Given the description of an element on the screen output the (x, y) to click on. 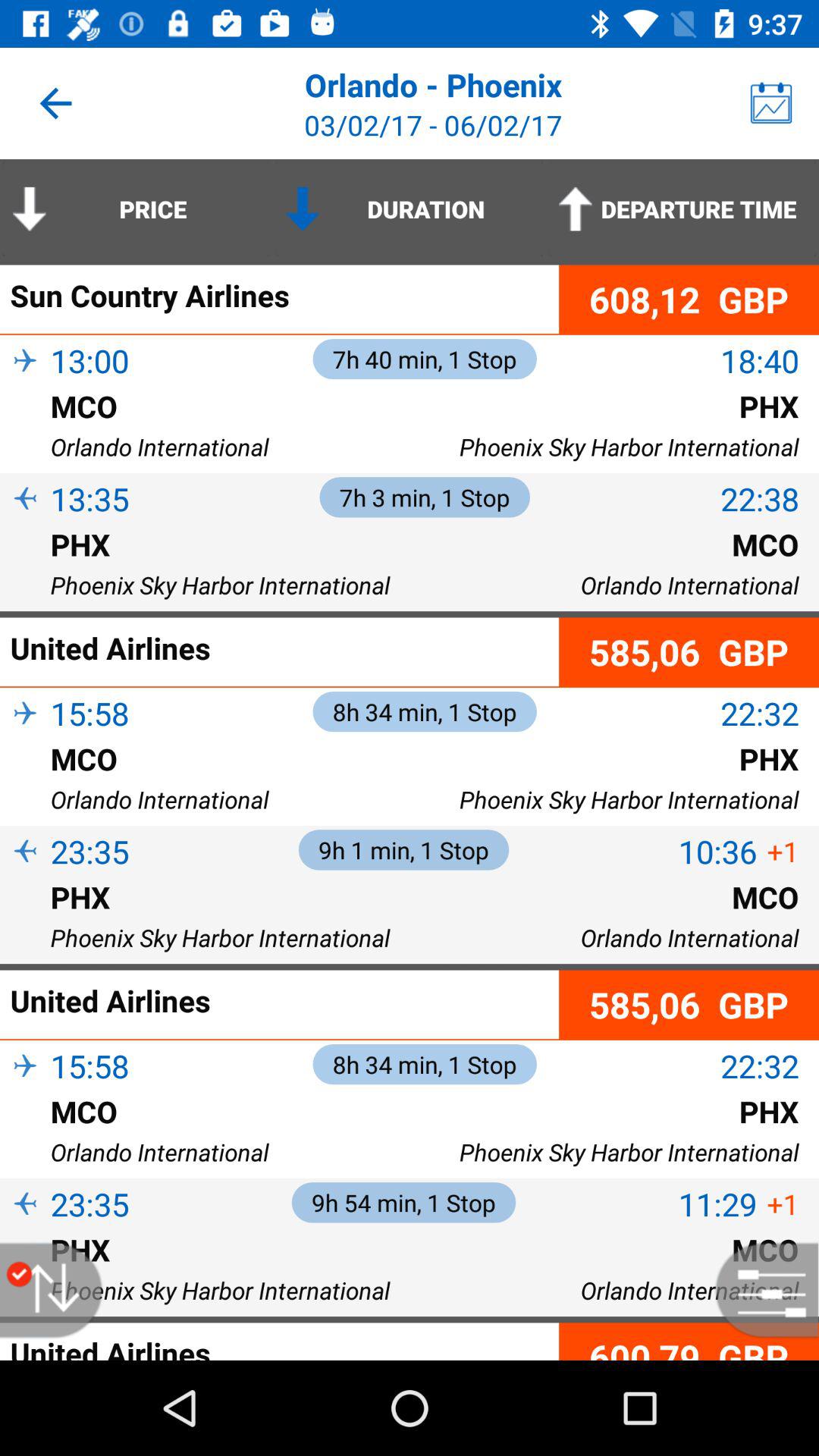
choose item to the left of 23:35 item (25, 877)
